Given the description of an element on the screen output the (x, y) to click on. 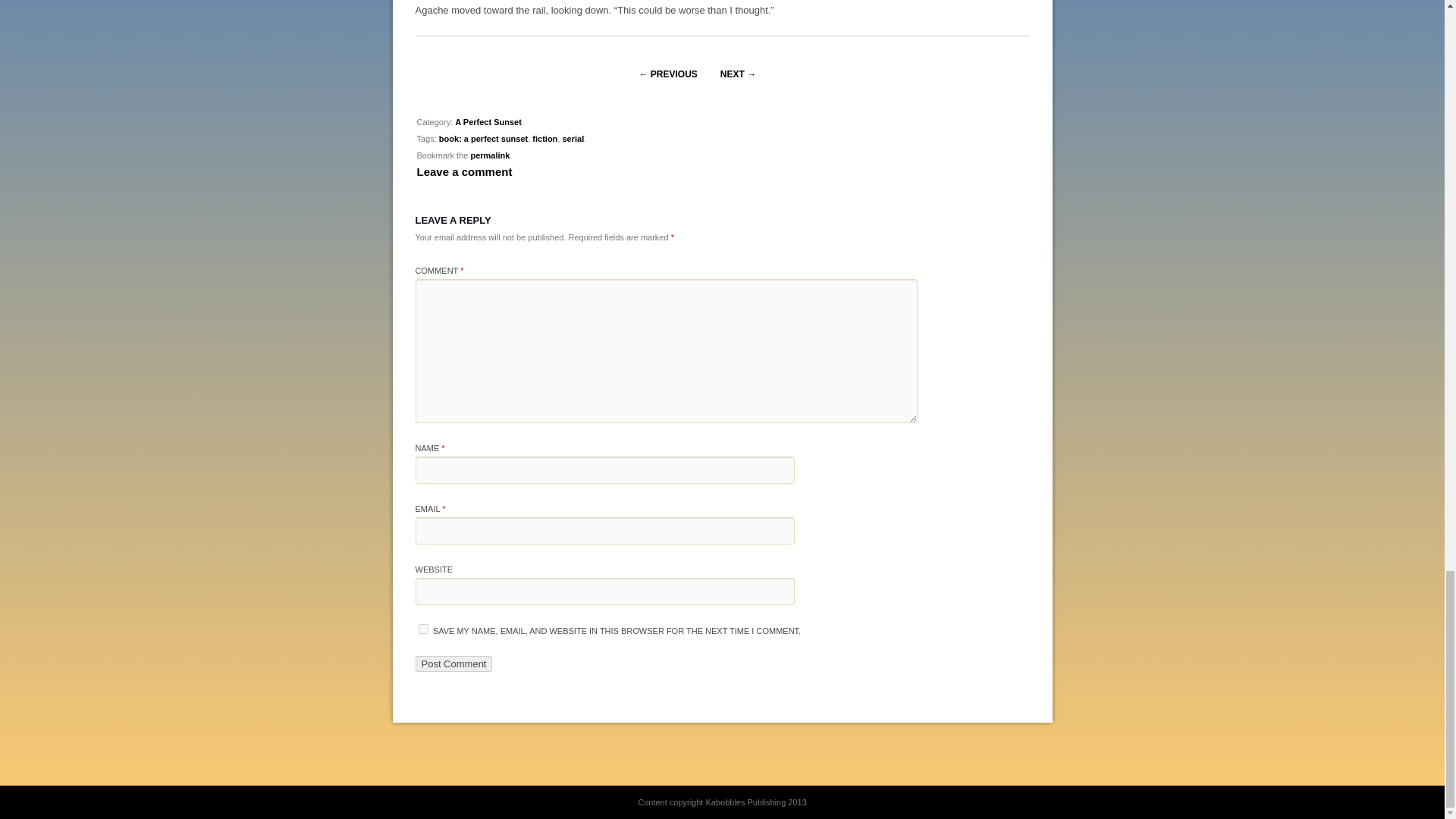
Post Comment (453, 663)
serial (572, 138)
fiction (544, 138)
yes (423, 628)
permalink (489, 154)
Leave a comment (464, 171)
A Perfect Sunset (487, 121)
Permalink to Decisions in Debate (489, 154)
book: a perfect sunset (483, 138)
Post Comment (453, 663)
